Given the description of an element on the screen output the (x, y) to click on. 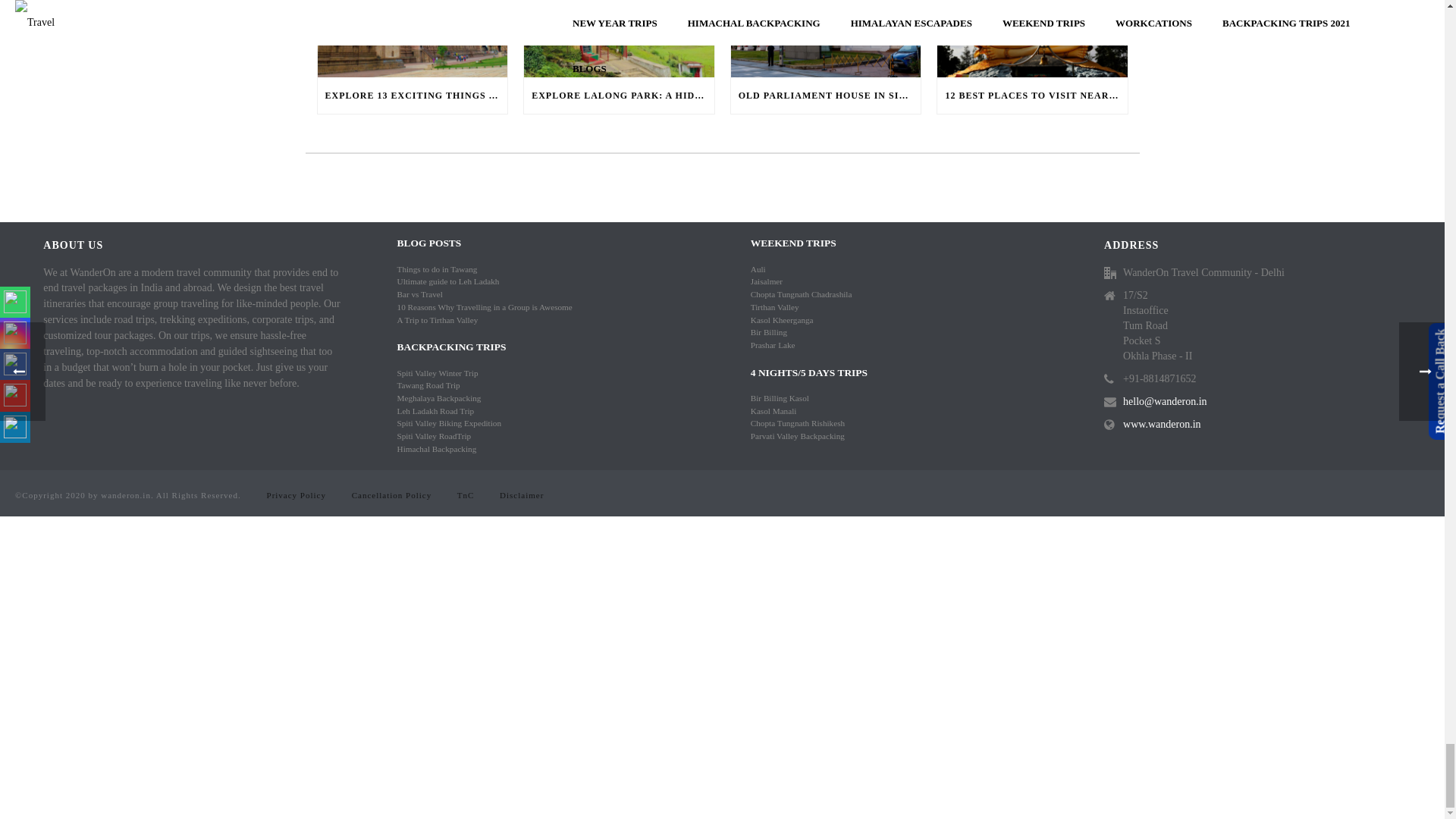
Explore 13 Exciting Things To Do In Nagapattinam (411, 38)
